Given the description of an element on the screen output the (x, y) to click on. 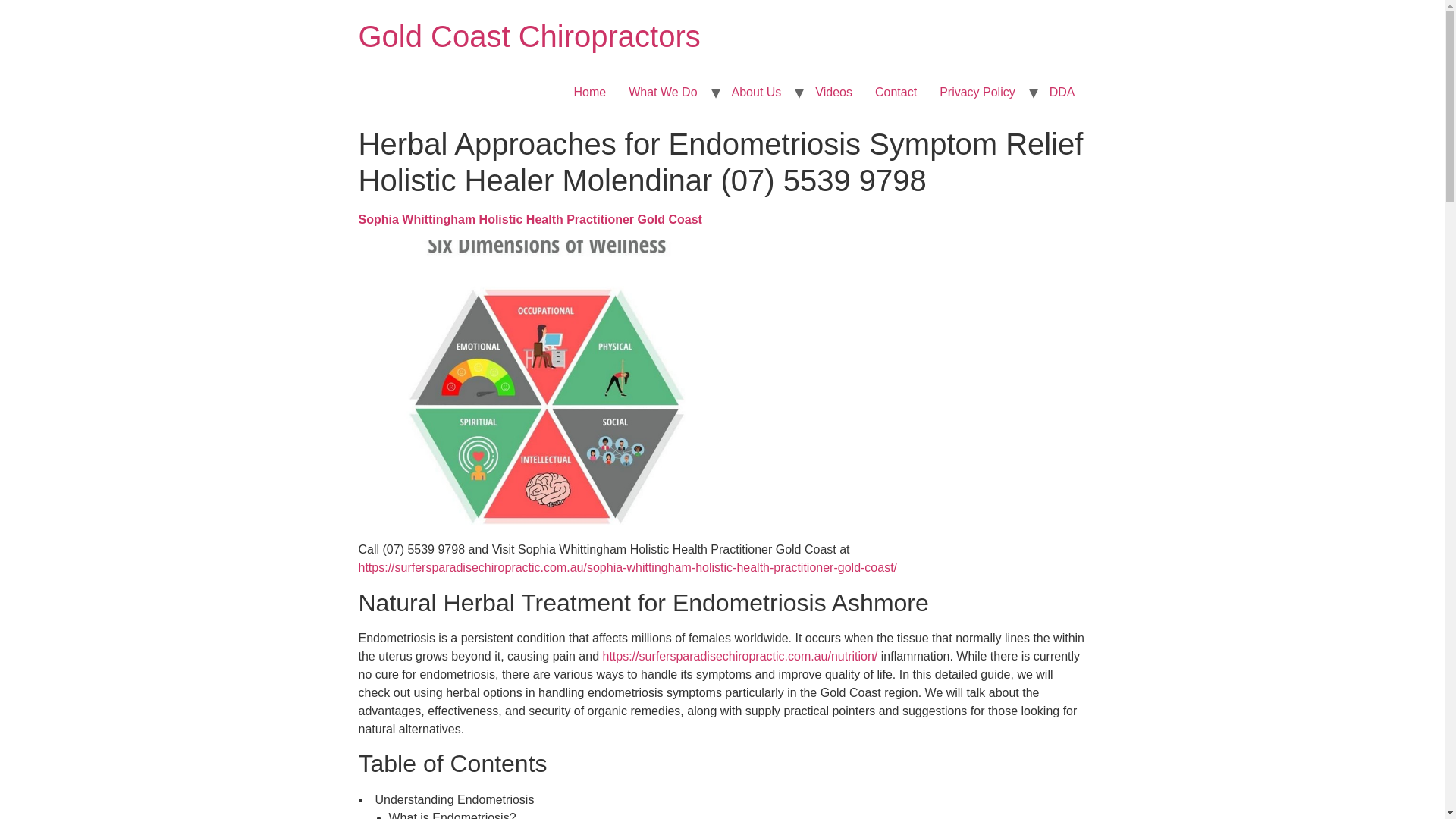
Home (529, 36)
Sophia Whittingham Holistic Health Practitioner Gold Coast (529, 219)
Privacy Policy (977, 91)
What We Do (662, 91)
Videos (833, 91)
DDA (1062, 91)
Gold Coast Chiropractors (529, 36)
Home (589, 91)
Contact (895, 91)
About Us (756, 91)
